Given the description of an element on the screen output the (x, y) to click on. 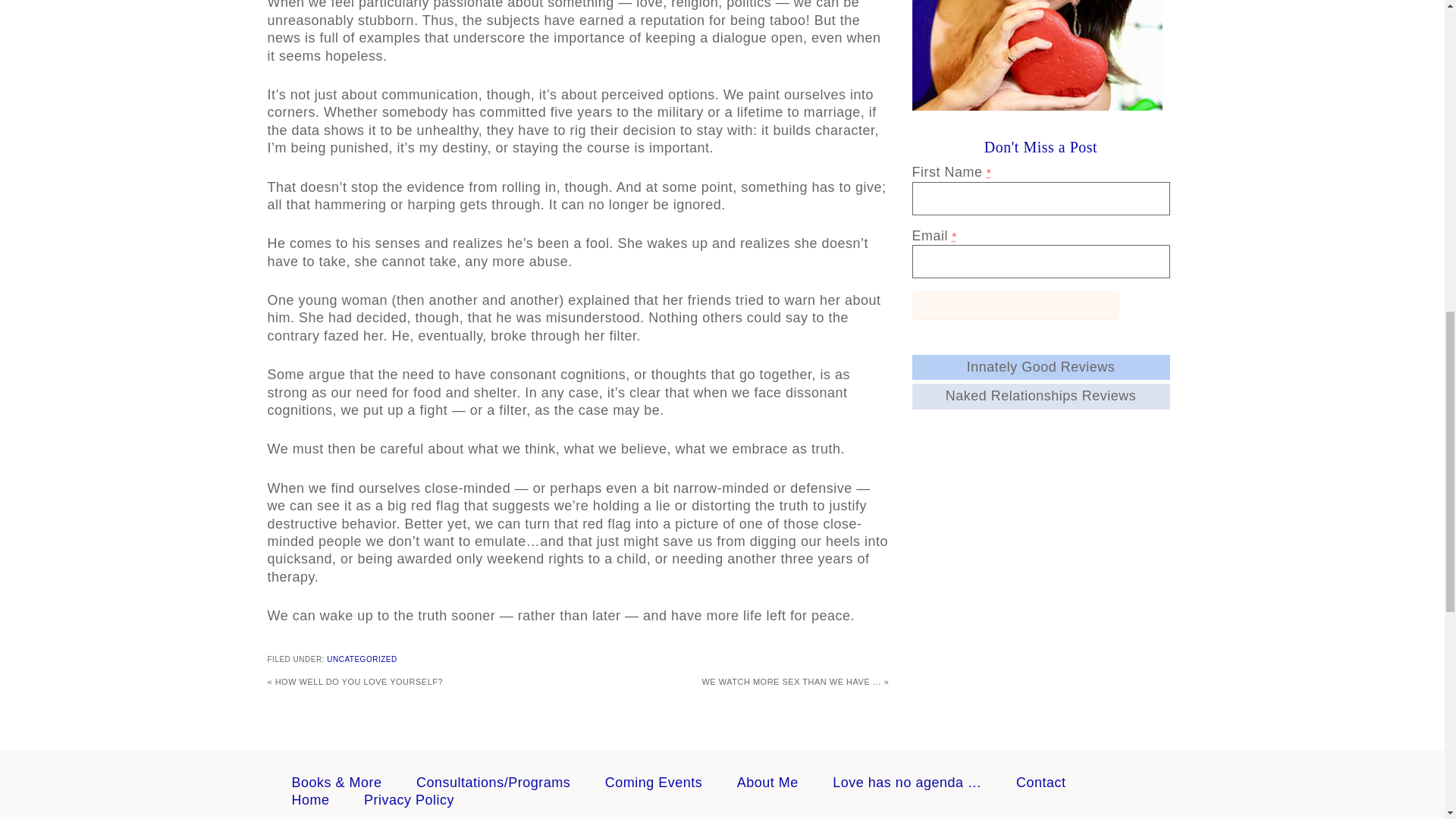
Home (310, 799)
Coming Events (654, 782)
Naked Relationships Reviews (1040, 395)
About Me (766, 782)
Contact (1040, 782)
Sign up for Newsletter (1015, 305)
Innately Good Reviews (1040, 366)
Sign up for Newsletter (1015, 305)
UNCATEGORIZED (361, 659)
Privacy Policy (409, 799)
